Given the description of an element on the screen output the (x, y) to click on. 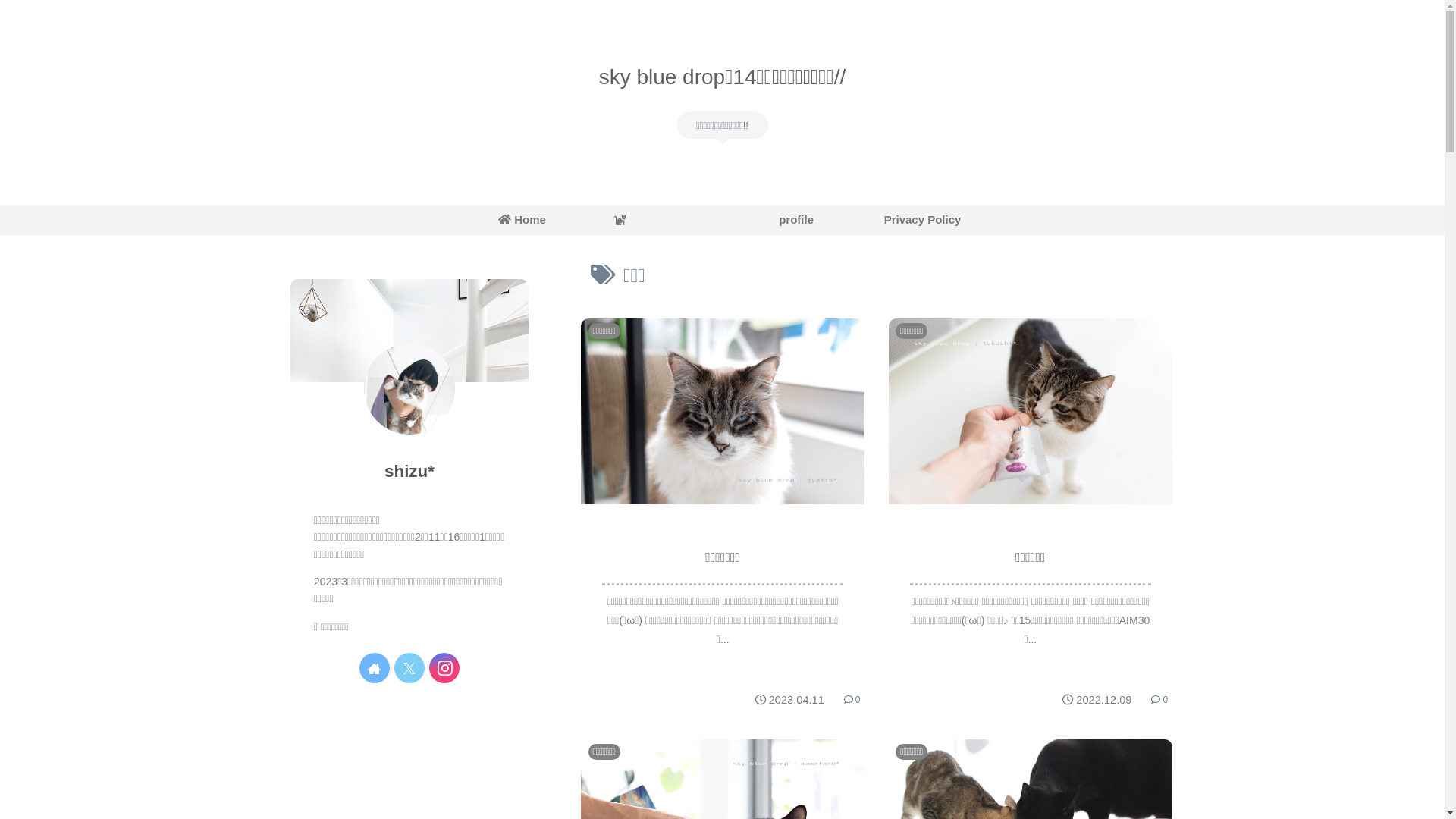
profile Element type: text (788, 219)
shizu* Element type: text (409, 470)
Privacy Policy Element type: text (921, 219)
Home Element type: text (521, 219)
